Given the description of an element on the screen output the (x, y) to click on. 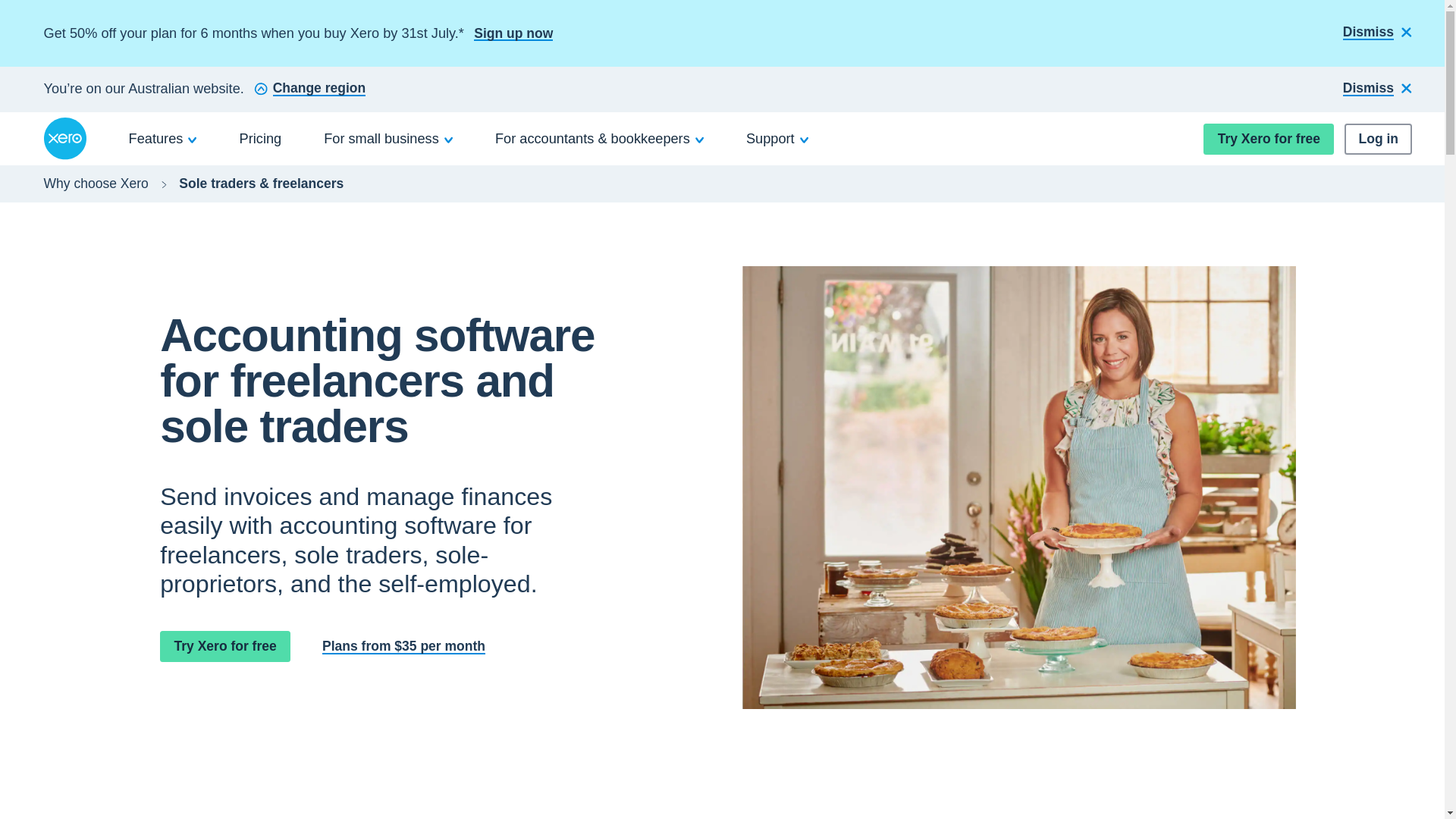
Change region (309, 89)
Why choose Xero (95, 183)
Log in (1377, 138)
For small business (388, 138)
Pricing (260, 138)
Sign up now (513, 32)
Try Xero for free (1268, 138)
Dismiss (1377, 33)
Try Xero for free (224, 645)
Features (162, 138)
Dismiss (1377, 89)
Support (777, 138)
